Given the description of an element on the screen output the (x, y) to click on. 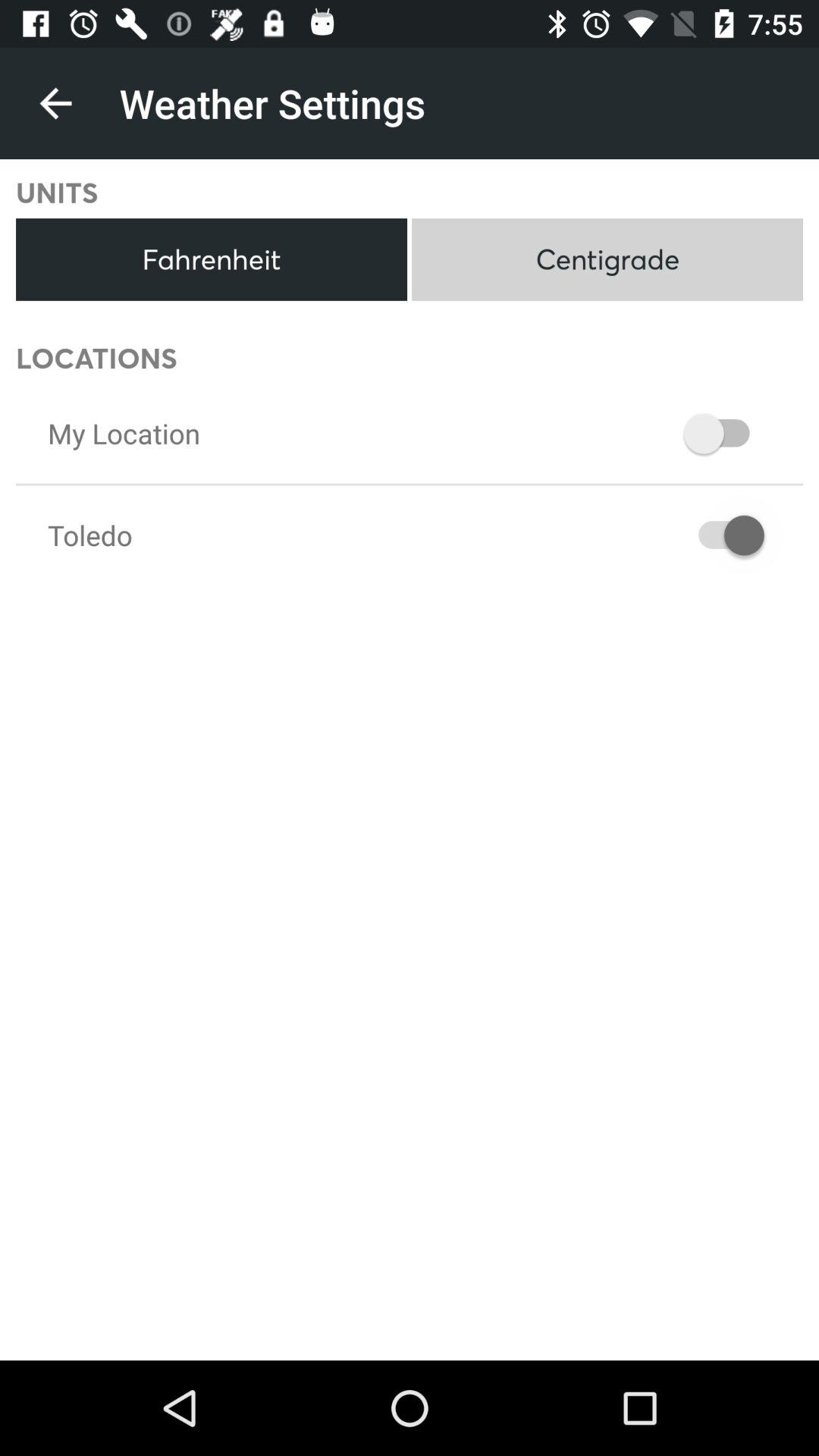
tap item to the right of fahrenheit (607, 259)
